Given the description of an element on the screen output the (x, y) to click on. 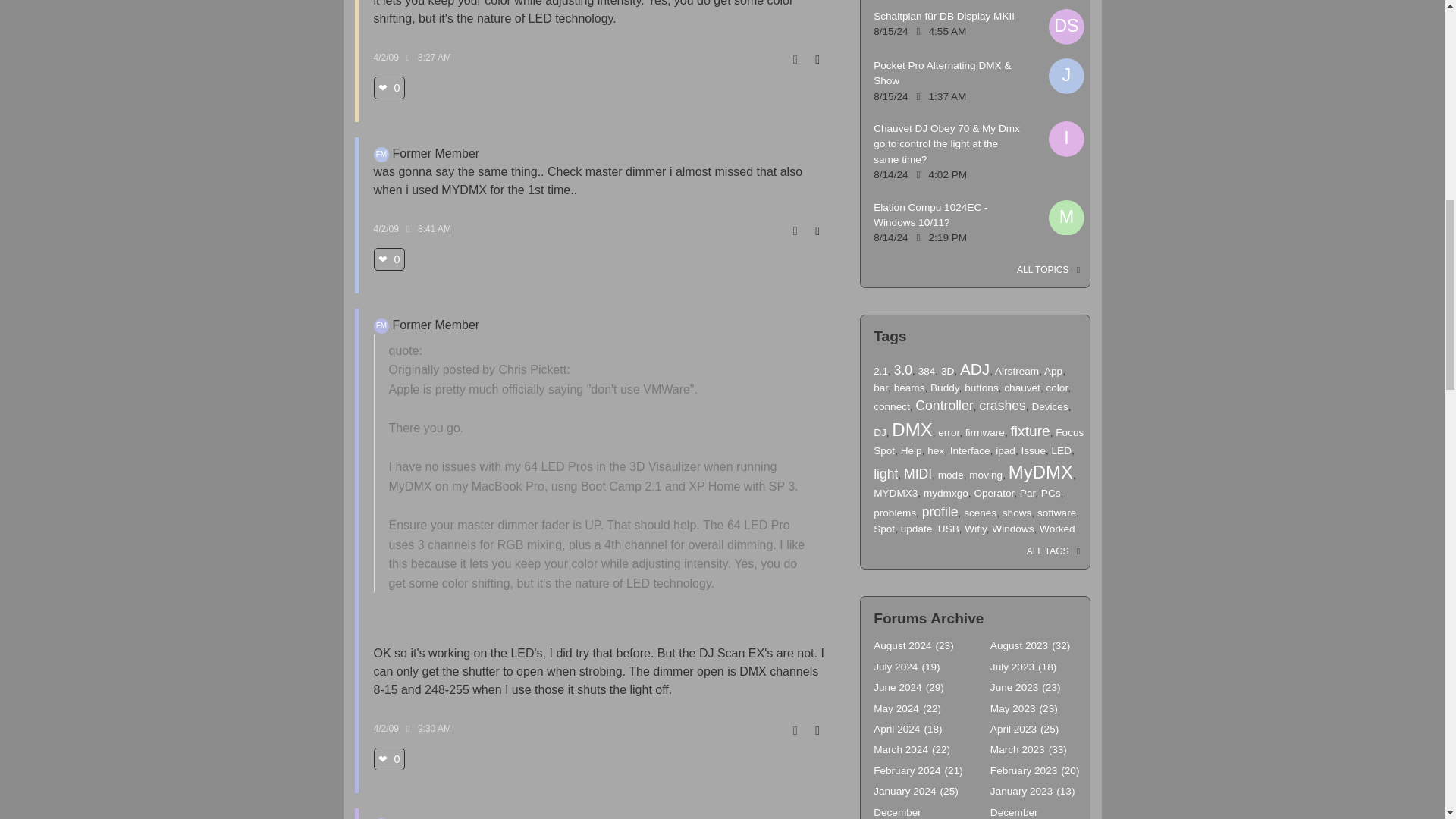
Former Member (380, 154)
FM (380, 325)
FM (380, 154)
Former Member (380, 325)
